Given the description of an element on the screen output the (x, y) to click on. 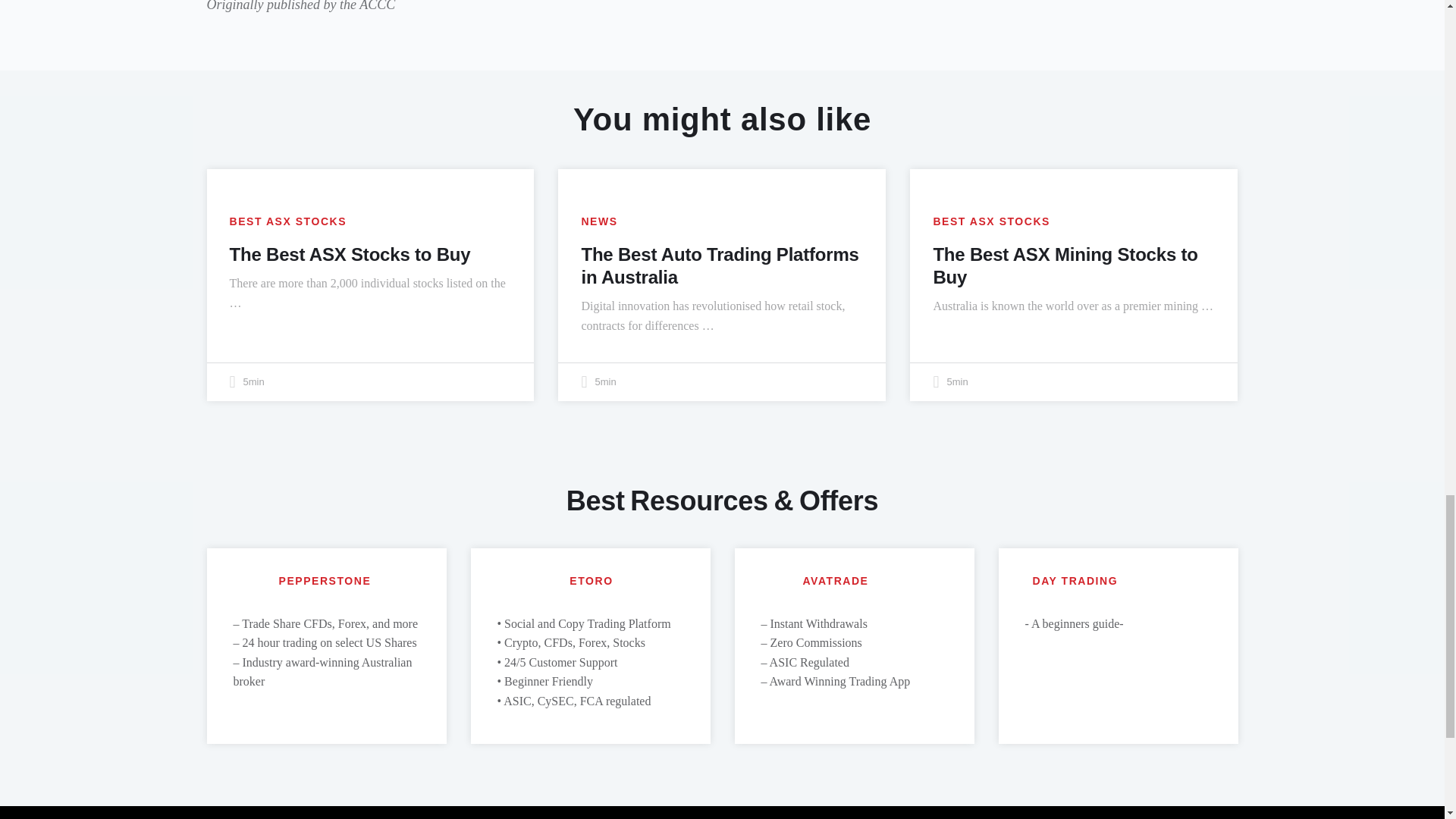
BEST ASX STOCKS (287, 221)
NEWS (598, 221)
BEST ASX STOCKS (991, 221)
The Best ASX Stocks to Buy (349, 254)
The Best Auto Trading Platforms in Australia (719, 265)
The Best ASX Mining Stocks to Buy (1064, 265)
